Given the description of an element on the screen output the (x, y) to click on. 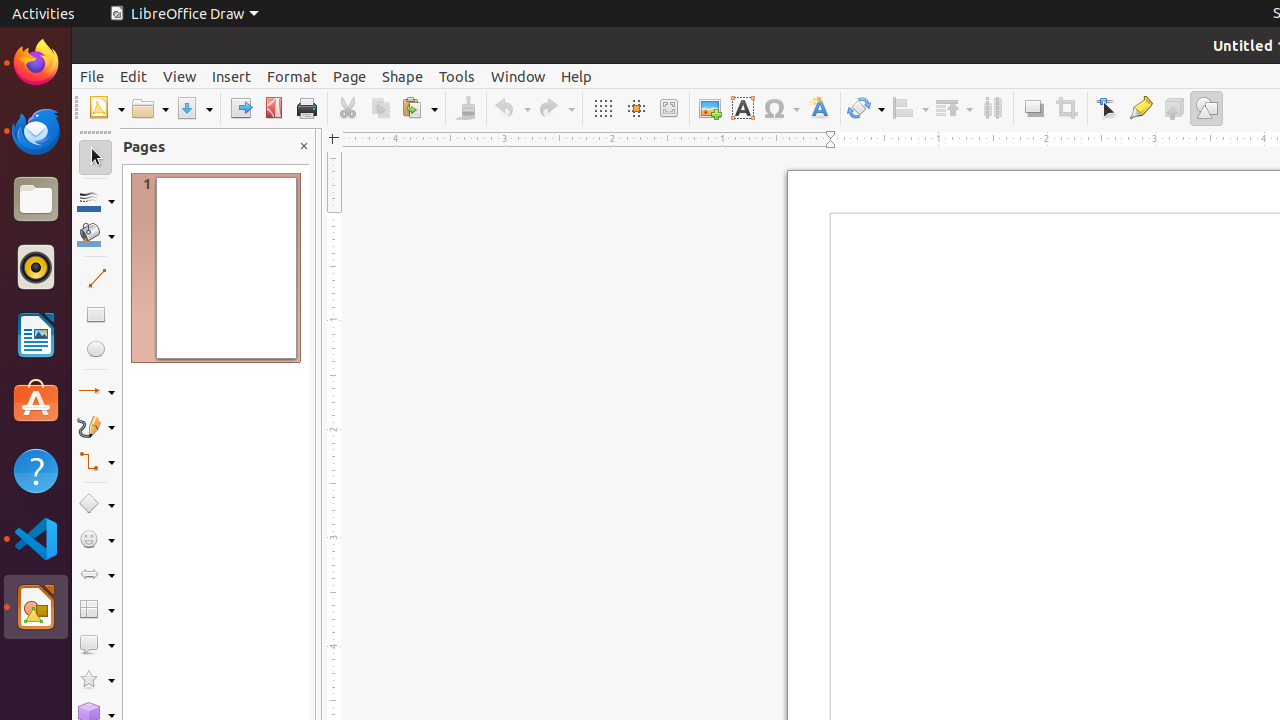
Rectangle Element type: push-button (95, 313)
Toggle Extrusion Element type: push-button (1173, 108)
Draw Functions Element type: toggle-button (1206, 108)
Open Element type: push-button (150, 108)
Select Element type: push-button (95, 157)
